Given the description of an element on the screen output the (x, y) to click on. 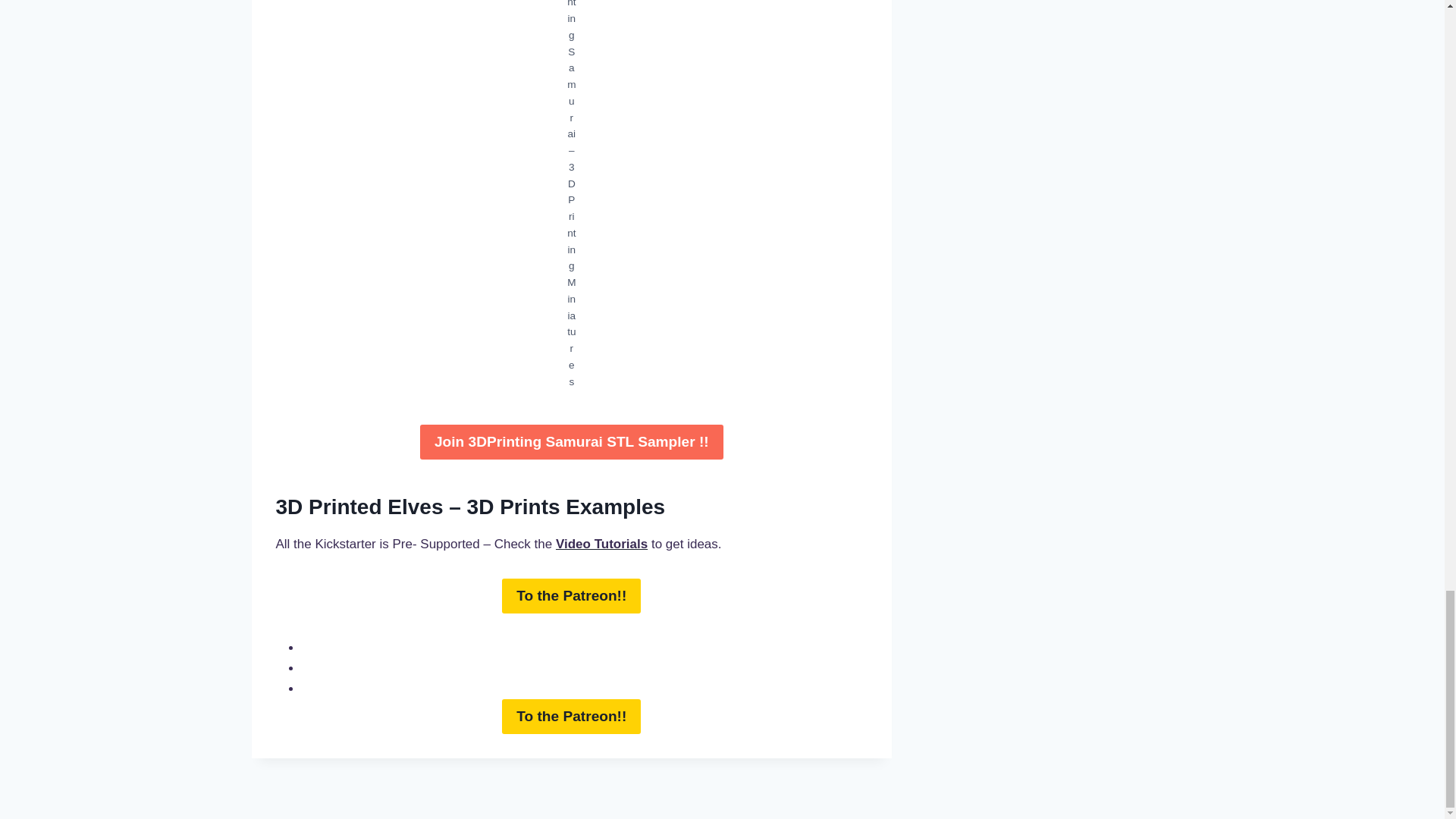
To the Patreon!! (571, 716)
Join 3DPrinting Samurai STL Sampler !! (571, 442)
To the Patreon!! (571, 595)
Video Tutorials (601, 544)
